Given the description of an element on the screen output the (x, y) to click on. 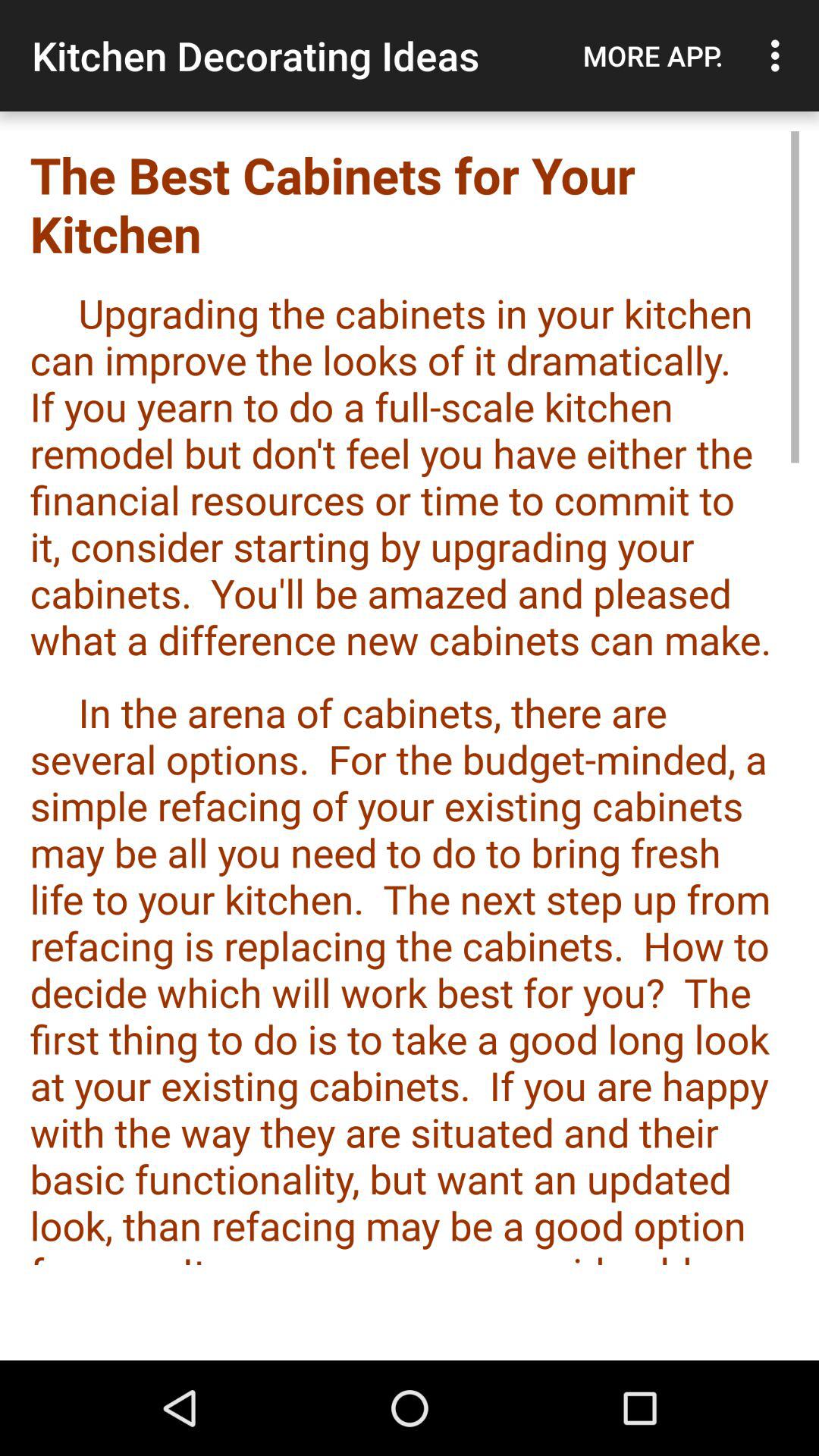
turn on item next to the kitchen decorating ideas item (653, 55)
